Given the description of an element on the screen output the (x, y) to click on. 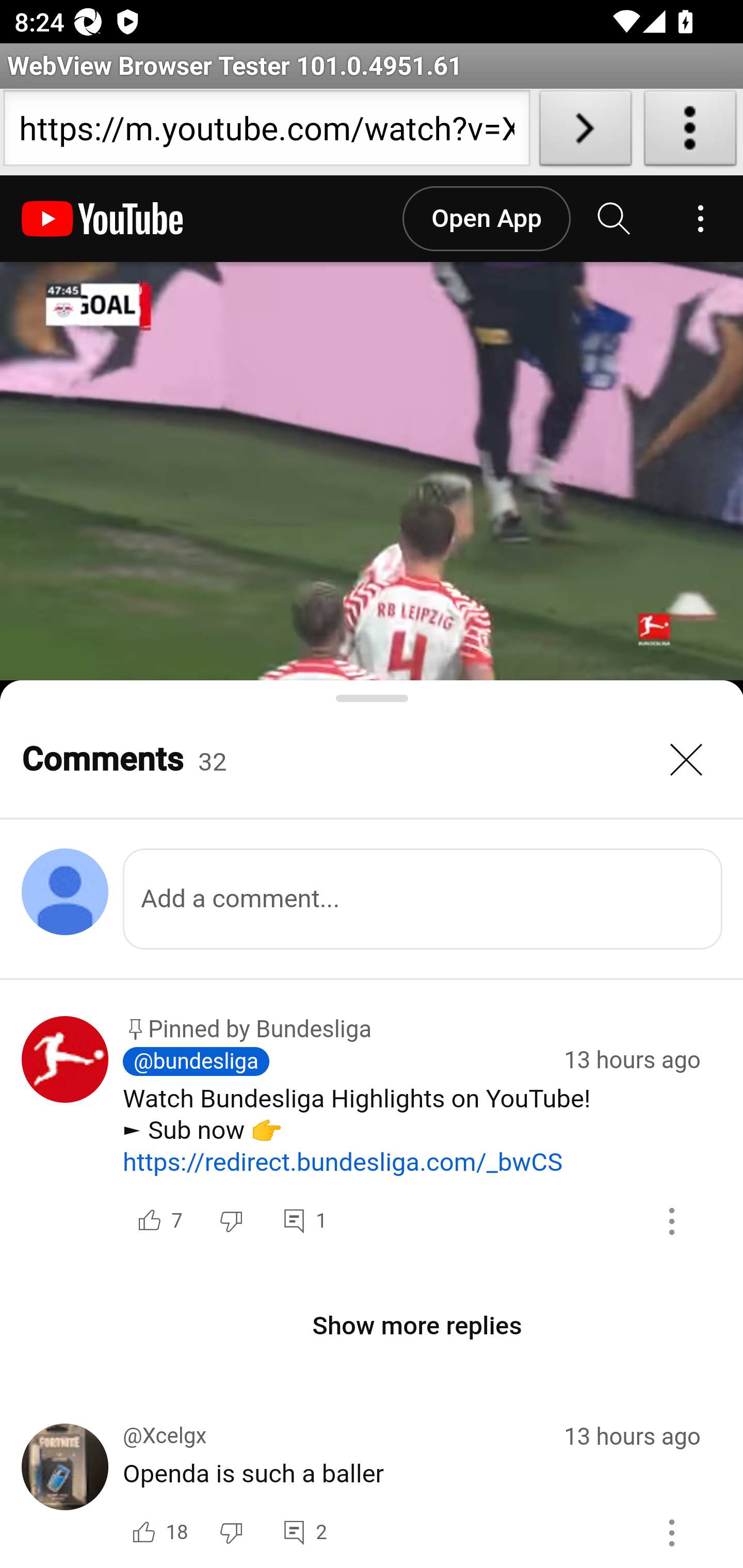
https://m.youtube.com/watch?v=XUR4BnUG4-I (266, 132)
Load URL (585, 132)
About WebView (690, 132)
YouTube (102, 219)
Search YouTube (614, 219)
Account (700, 219)
Open App (485, 218)
YouTube Video Player (371, 470)
Close (686, 760)
Add a comment... (423, 898)
UC6UL29enLNe4mqwTfAyeNuw (65, 1136)
Show more replies (417, 1325)
UChjgOtm-JQJGcTmRvQBlqTA (65, 1495)
